Given the description of an element on the screen output the (x, y) to click on. 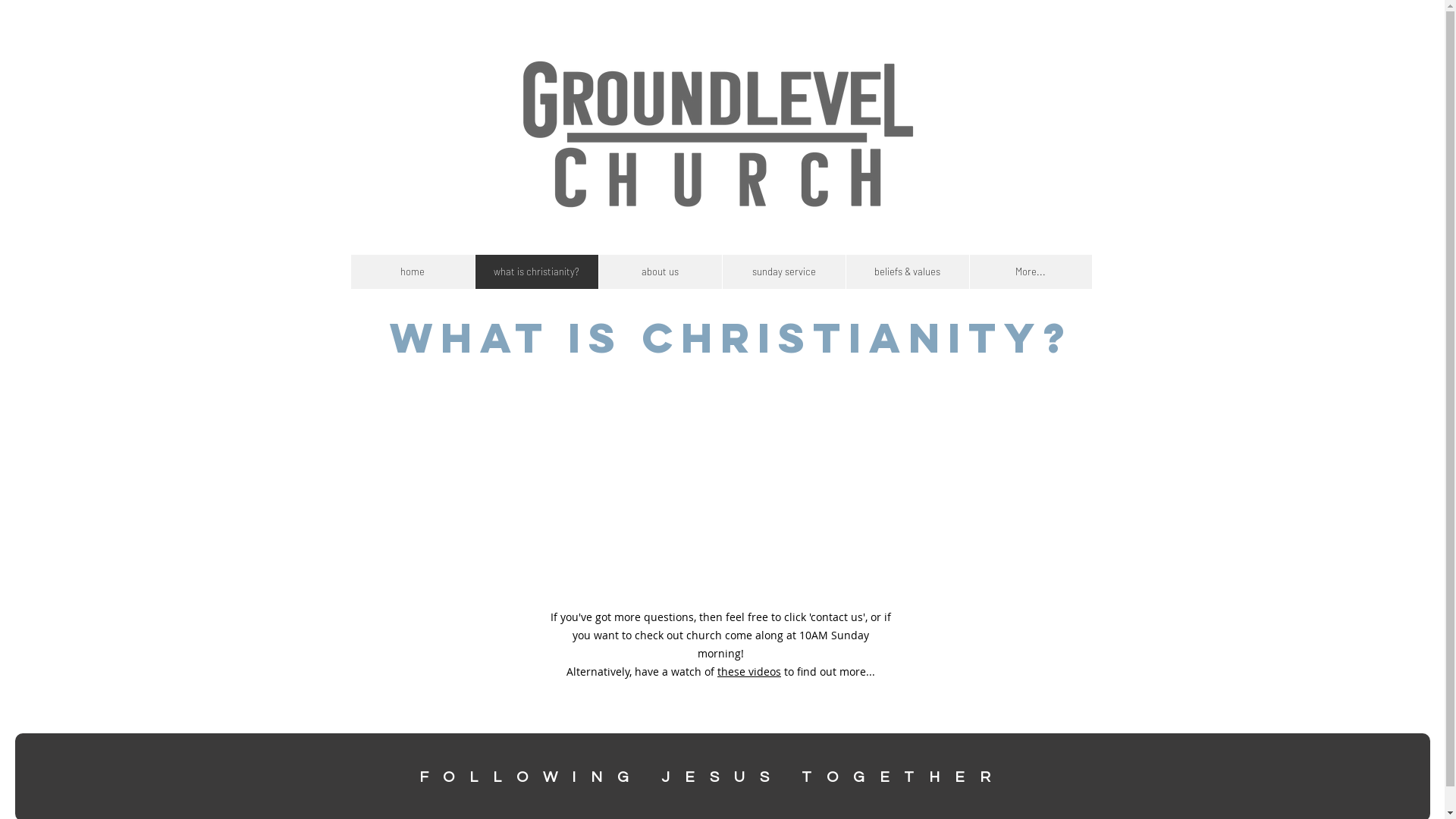
External YouTube Element type: hover (723, 483)
what is christianity? Element type: text (536, 271)
sunday service Element type: text (783, 271)
home Element type: text (411, 271)
about us Element type: text (659, 271)
beliefs & values Element type: text (906, 271)
these videos Element type: text (749, 671)
